Given the description of an element on the screen output the (x, y) to click on. 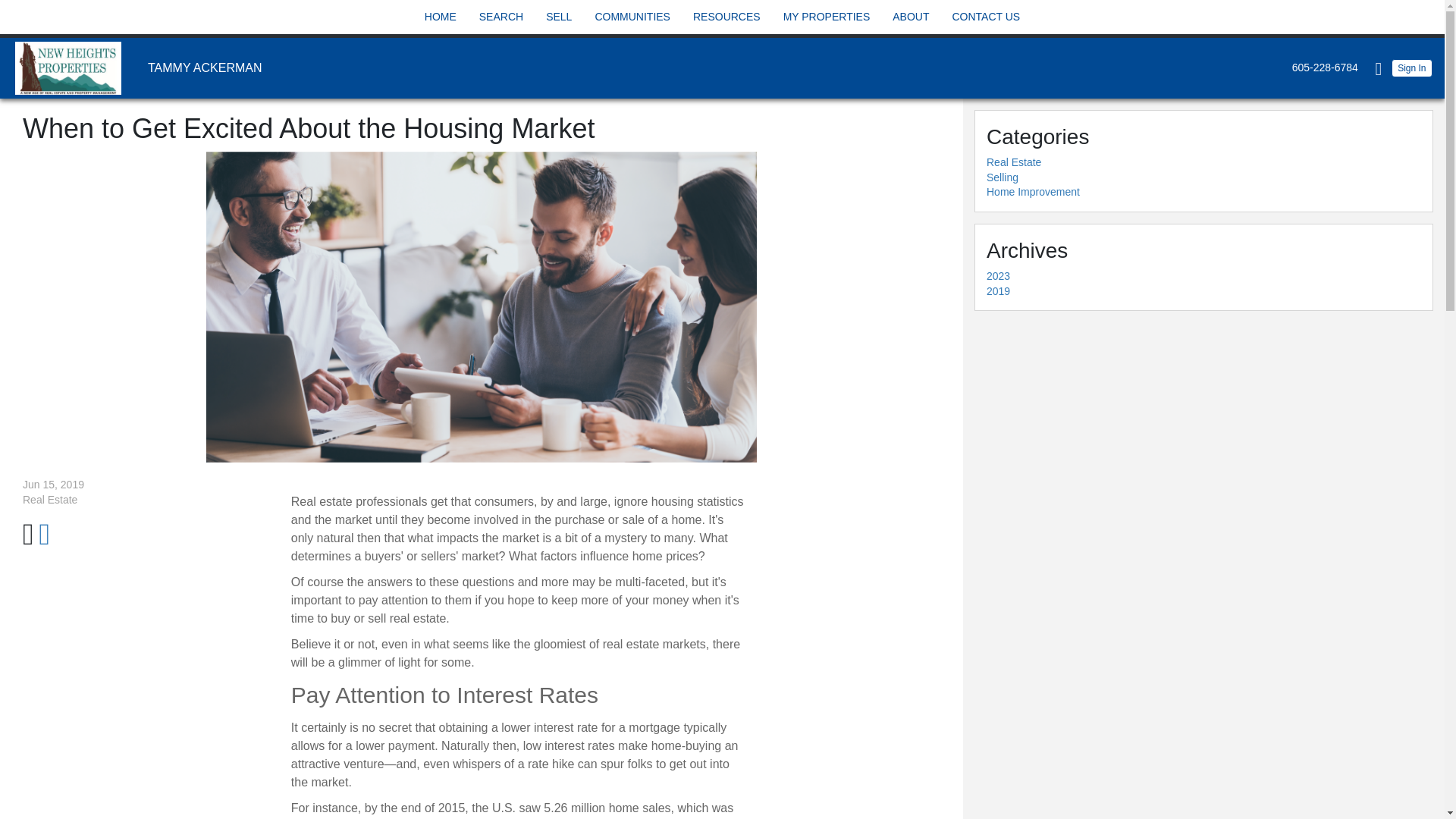
SEARCH (501, 17)
ABOUT (910, 17)
605-228-6784 (1321, 67)
2023 (998, 275)
Sign In (1411, 67)
2019 (998, 291)
HOME (440, 17)
RESOURCES (726, 17)
CONTACT US (985, 17)
Real Estate (1014, 162)
SELL (558, 17)
COMMUNITIES (632, 17)
Home Improvement (1033, 191)
MY PROPERTIES (826, 17)
Selling (1002, 177)
